Given the description of an element on the screen output the (x, y) to click on. 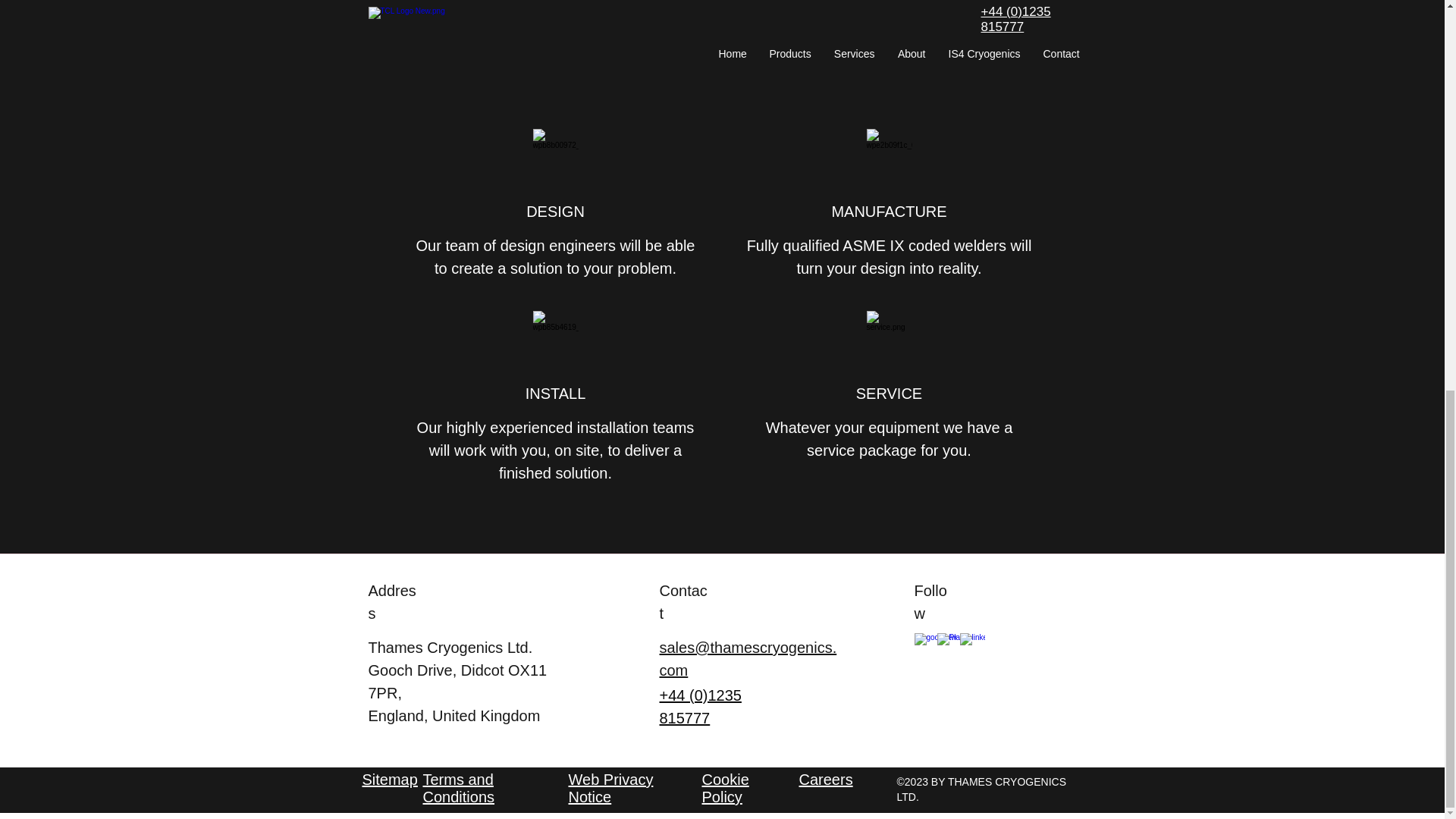
Careers (826, 779)
Sitemap (389, 779)
Cookie Policy (725, 788)
Terms and Conditions (459, 788)
Web Privacy Notice (611, 788)
